Given the description of an element on the screen output the (x, y) to click on. 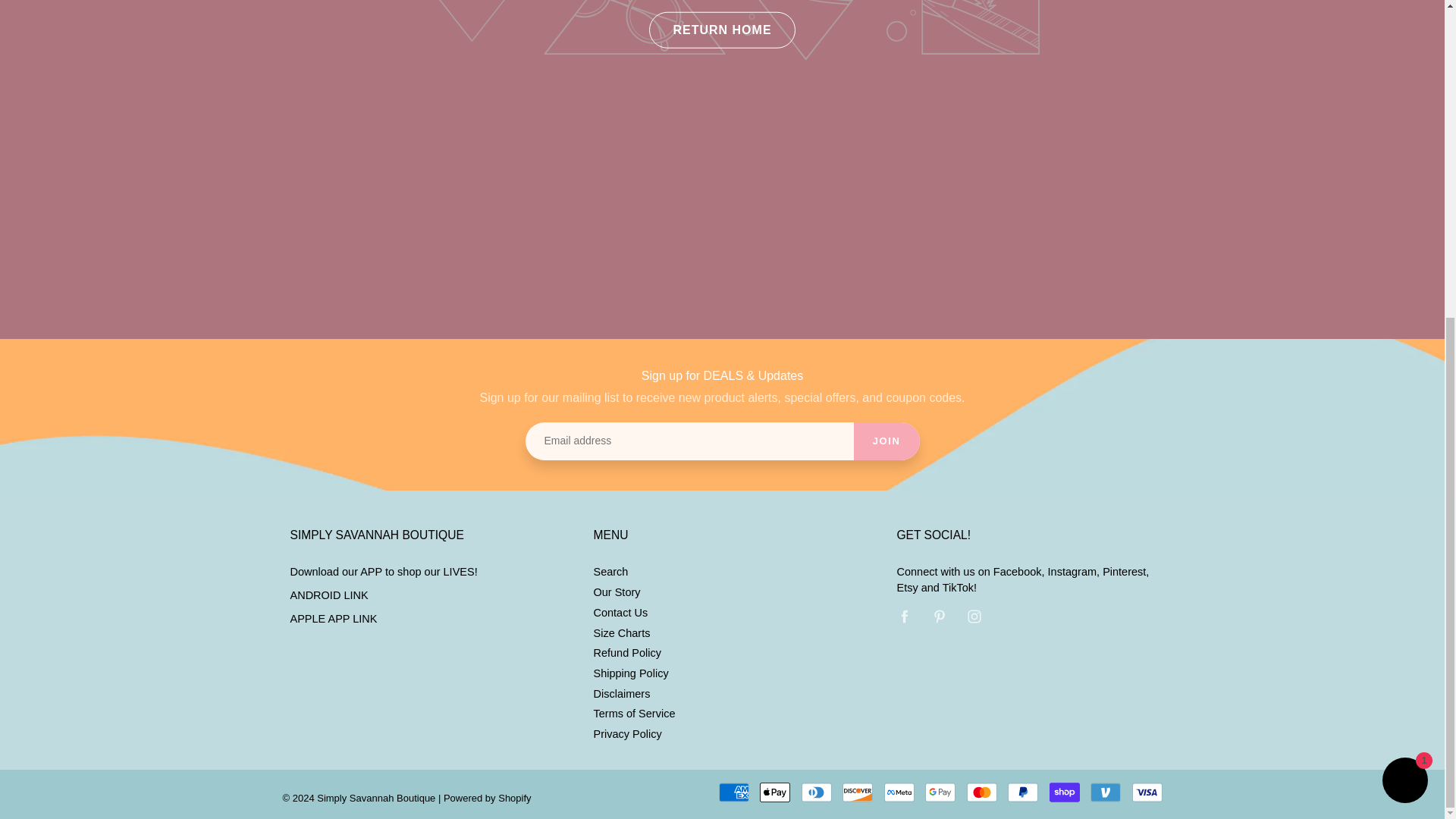
Google Pay (939, 792)
American Express (734, 792)
Diners Club (816, 792)
Discover (857, 792)
Venmo (1105, 792)
Meta Pay (898, 792)
Shop Pay (1064, 792)
Mastercard (981, 792)
Facebook (904, 616)
PayPal (1022, 792)
Instagram (974, 616)
Pinterest (939, 616)
Apple Pay (775, 792)
Shopify online store chat (1404, 269)
Visa (1146, 792)
